Given the description of an element on the screen output the (x, y) to click on. 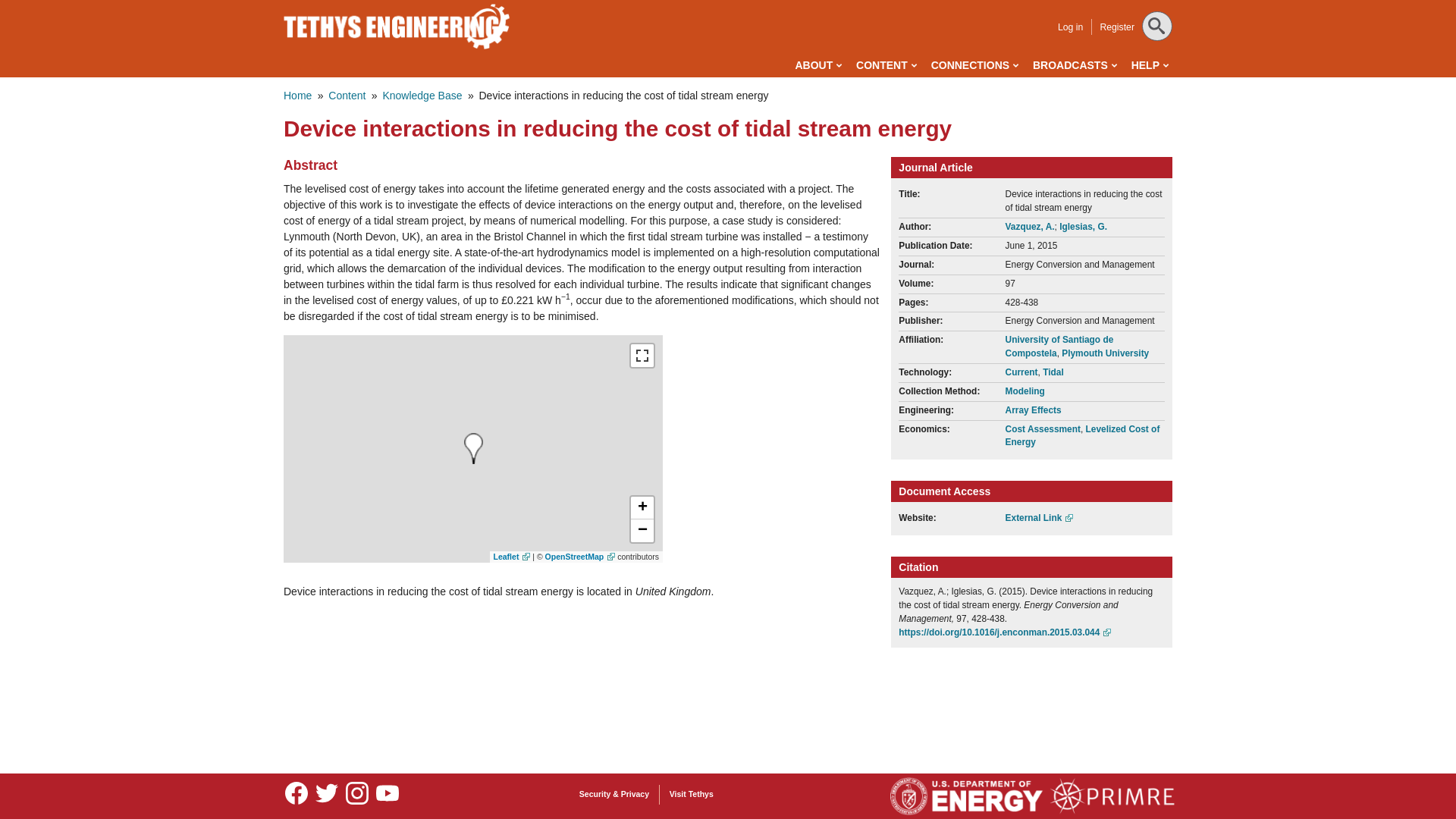
View Fullscreen (641, 354)
Register (1116, 27)
Home (397, 26)
A JavaScript library for interactive maps (512, 556)
ABOUT (817, 65)
CONNECTIONS (974, 65)
Zoom in (641, 507)
Skip to main content (659, 3)
Log in (1070, 27)
CONTENT (886, 65)
